Given the description of an element on the screen output the (x, y) to click on. 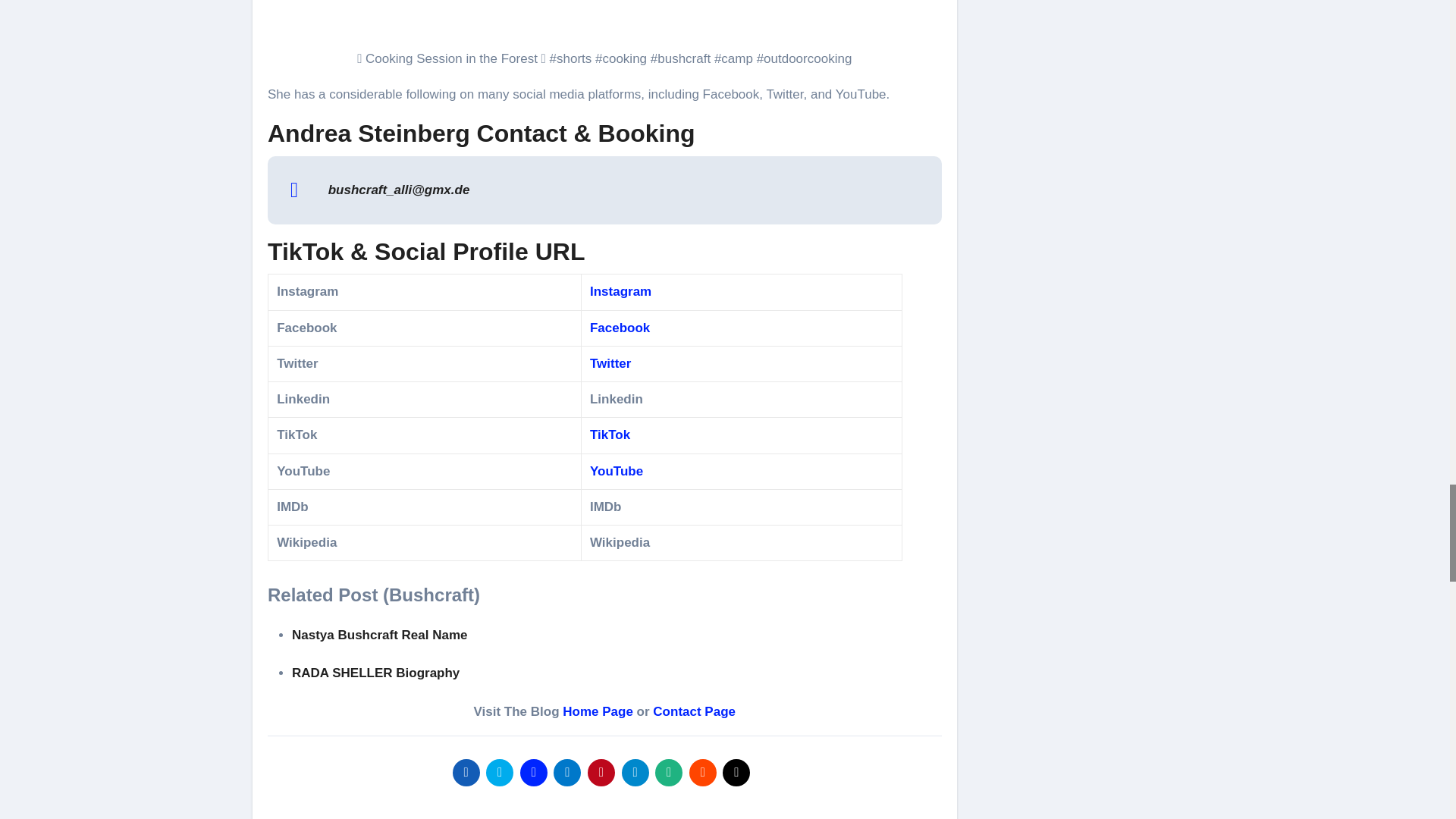
Twitter (609, 363)
Facebook (619, 327)
Instagram (619, 291)
TikTok (609, 434)
YouTube (616, 471)
Home Page (597, 711)
Contact Page (693, 711)
Nastya Bushcraft Real Name (379, 635)
RADA SHELLER Biography (376, 672)
